Given the description of an element on the screen output the (x, y) to click on. 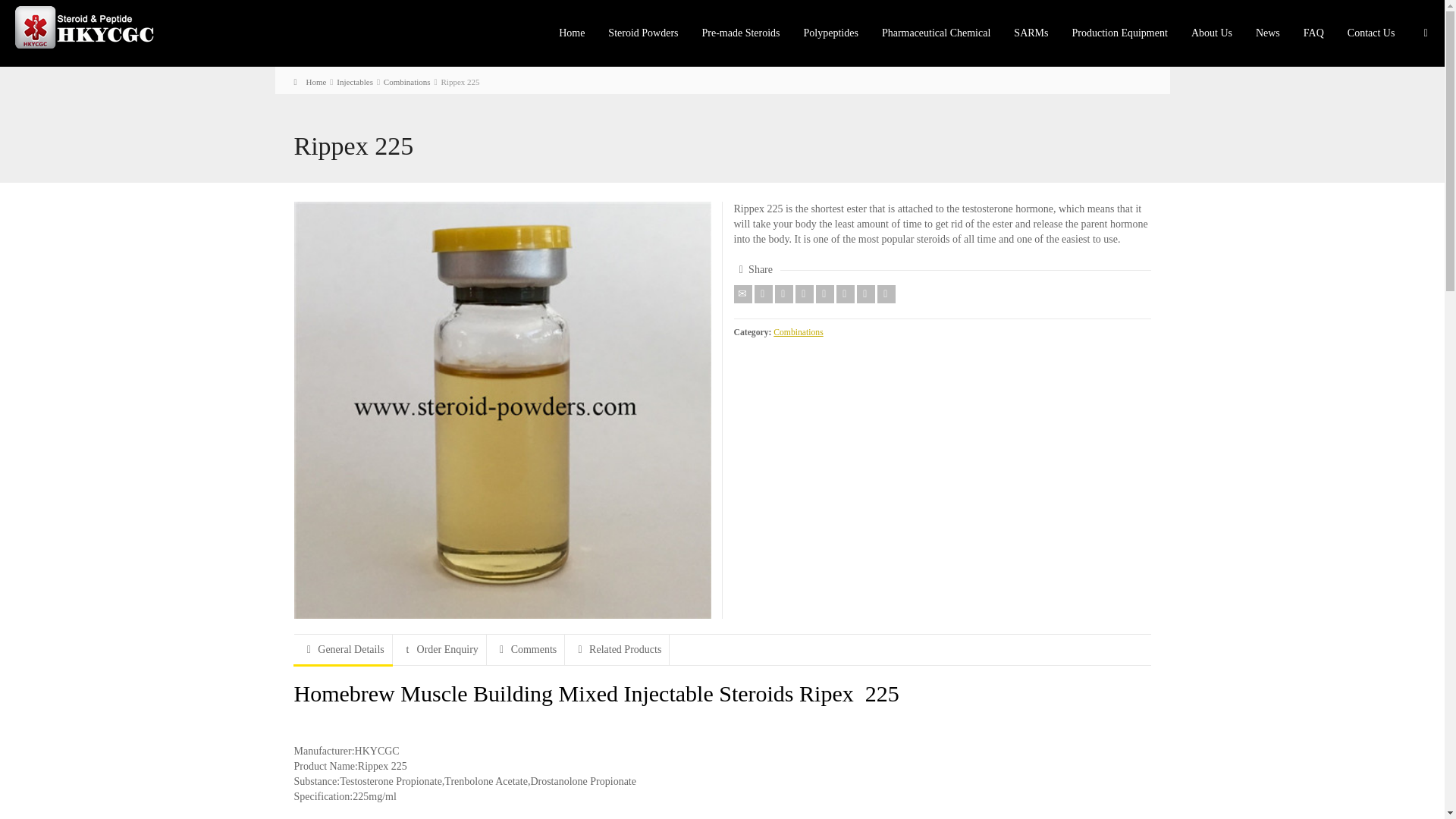
Tumblr (844, 294)
Injectables (354, 81)
Vkontakte (885, 294)
About Us (1211, 33)
Facebook (783, 294)
Combinations (407, 81)
Pinterest (824, 294)
HKYCGC (90, 25)
Pharmaceutical Chemical (936, 33)
Home (310, 81)
Email (742, 294)
Linkedin (866, 294)
Steroid Powders (643, 33)
Contact Us (1371, 33)
